Given the description of an element on the screen output the (x, y) to click on. 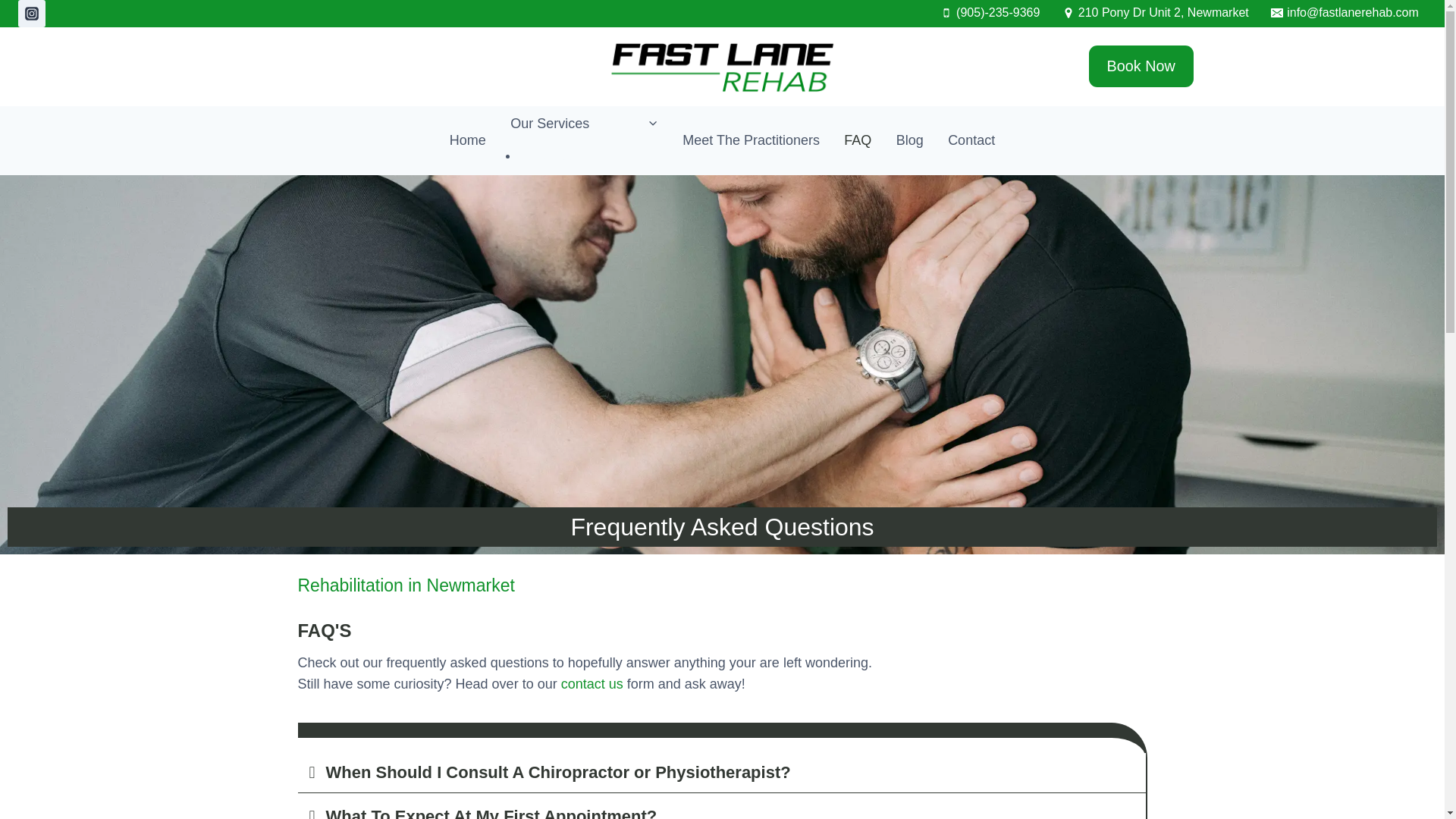
Home (467, 140)
Physiotherapy and Rehabilitation Newmarket (467, 140)
Chiropractor Newmarket (593, 156)
Meet The Practitioners (750, 140)
Our Services (583, 123)
Blog (909, 140)
What To Expect At My First Appointment? (492, 812)
Rehabilitation Services (583, 123)
Meet The Practitioners (750, 140)
When Should I Consult A Chiropractor or Physiotherapist? (558, 772)
